Given the description of an element on the screen output the (x, y) to click on. 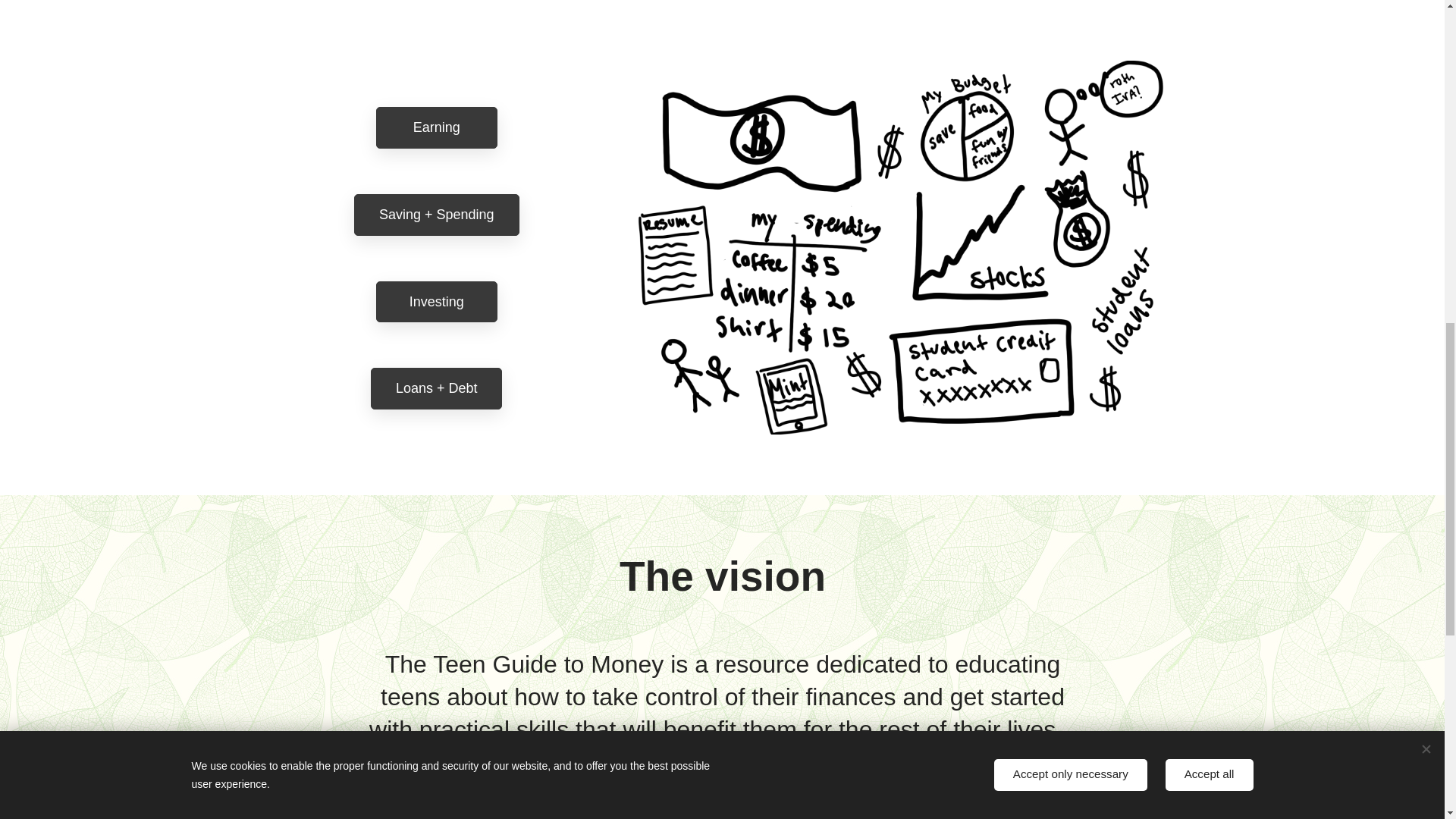
Investing (435, 301)
Earning (435, 127)
